Given the description of an element on the screen output the (x, y) to click on. 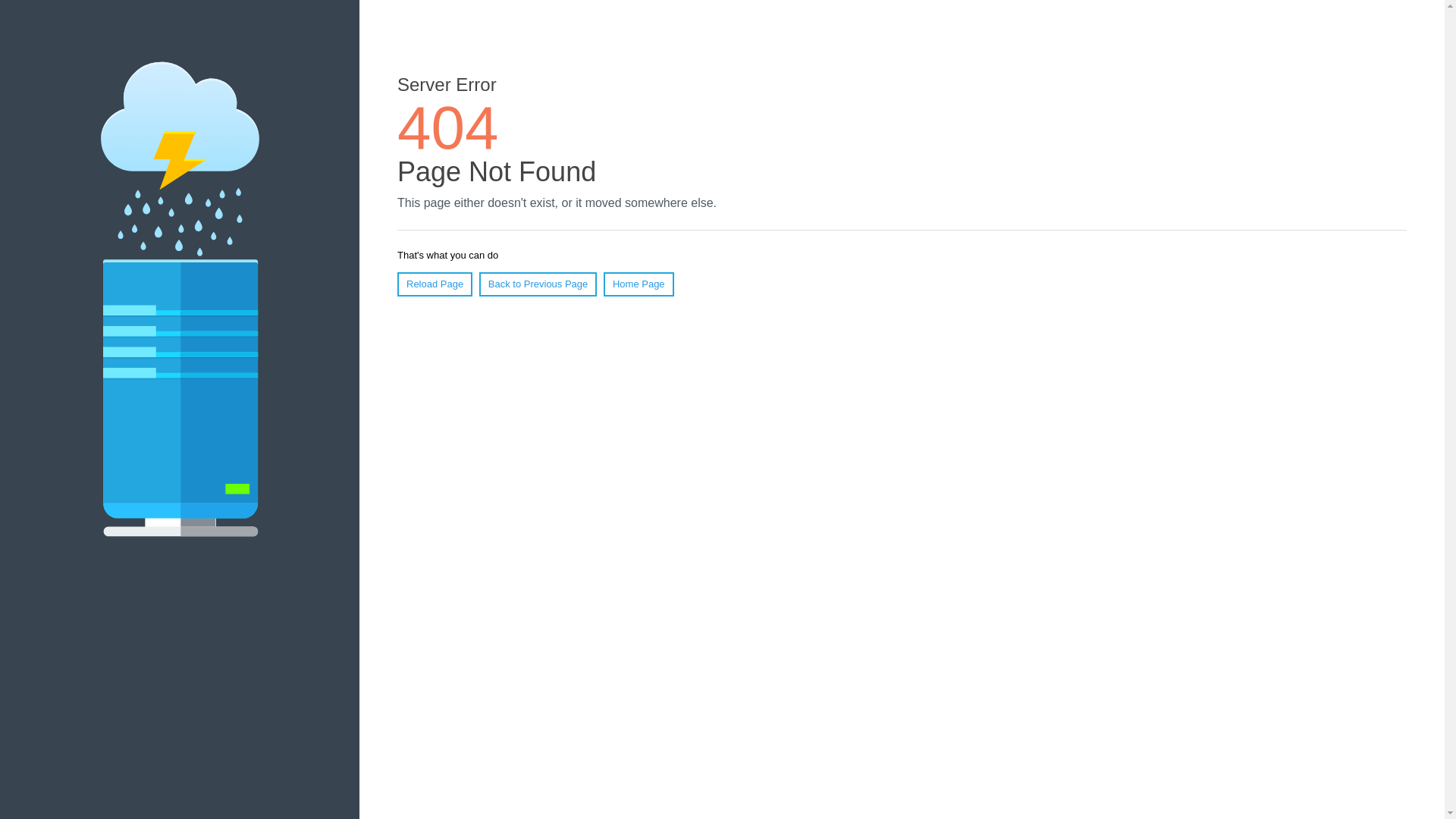
Back to Previous Page Element type: text (538, 284)
Reload Page Element type: text (434, 284)
Home Page Element type: text (638, 284)
